Given the description of an element on the screen output the (x, y) to click on. 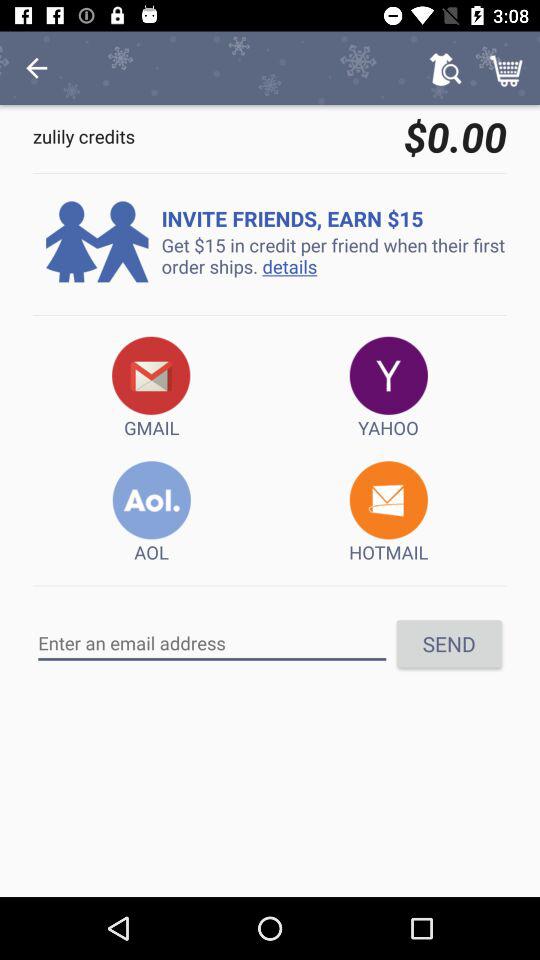
select item to the left of send icon (212, 643)
